Given the description of an element on the screen output the (x, y) to click on. 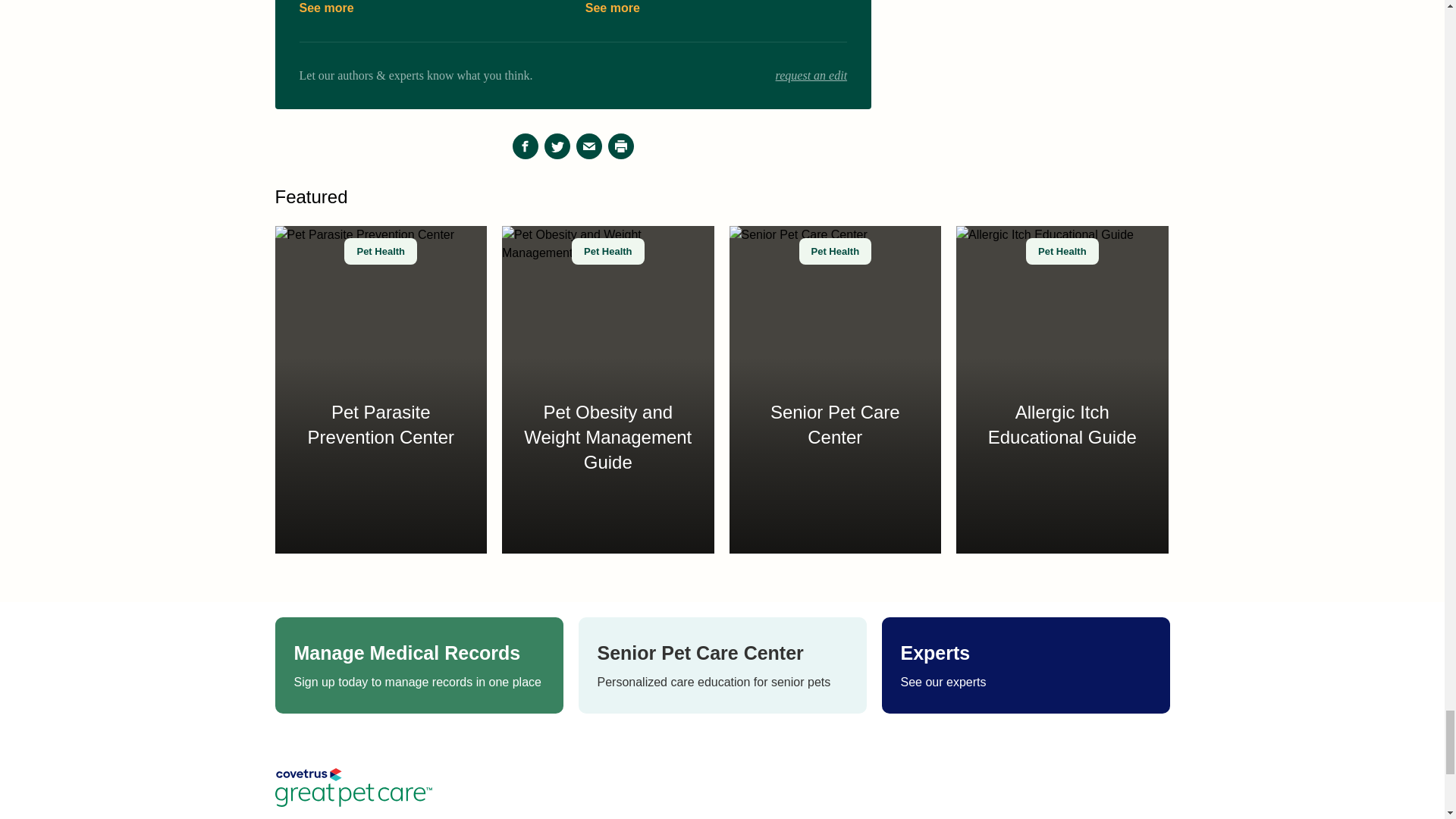
Share on Facebook (525, 145)
request an edit (811, 75)
Print (620, 145)
Share via email (589, 145)
Share on Twitter (557, 145)
